Given the description of an element on the screen output the (x, y) to click on. 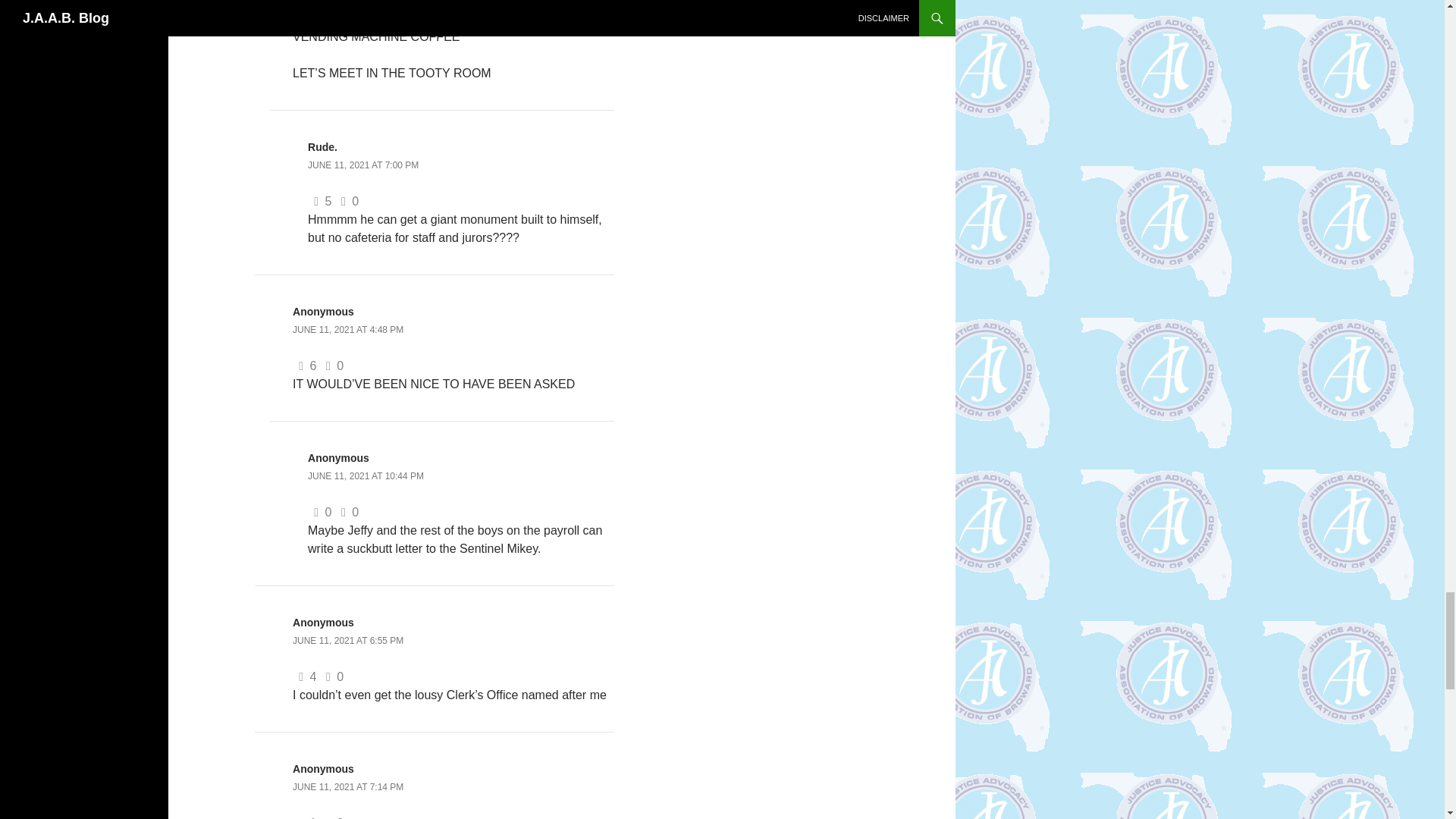
JUNE 11, 2021 AT 4:48 PM (347, 329)
JUNE 11, 2021 AT 7:00 PM (363, 164)
